Given the description of an element on the screen output the (x, y) to click on. 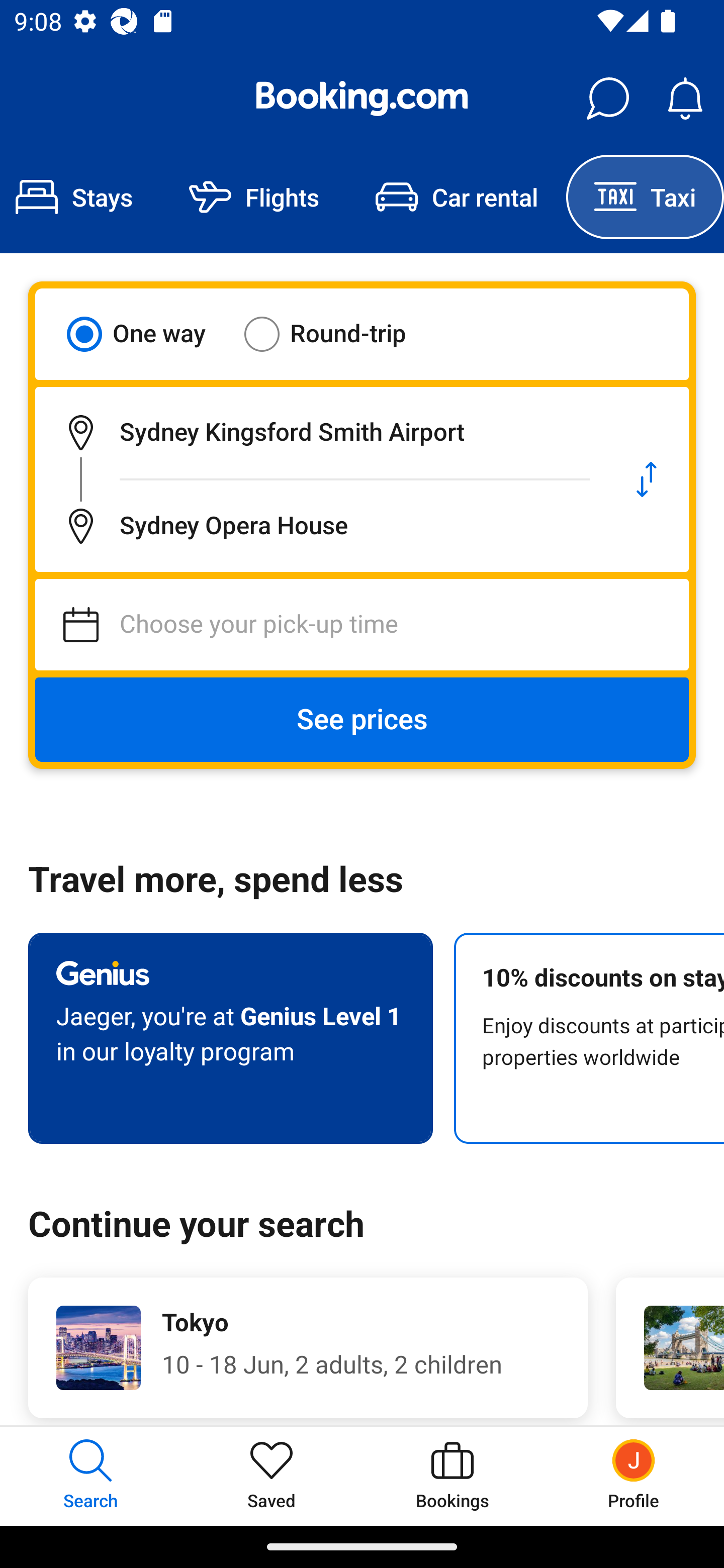
Messages (607, 98)
Notifications (685, 98)
Stays (80, 197)
Flights (253, 197)
Car rental (456, 197)
Taxi (645, 197)
Round-trip (337, 333)
Pick-up location: Sydney Kingsford Smith Airport (319, 432)
Swap pick-up location and destination (646, 479)
Destination: Sydney Opera House (319, 525)
Choose your pick-up time (361, 624)
See prices (361, 719)
Tokyo 10 - 18 Jun, 2 adults, 2 children (307, 1347)
Saved (271, 1475)
Bookings (452, 1475)
Profile (633, 1475)
